Given the description of an element on the screen output the (x, y) to click on. 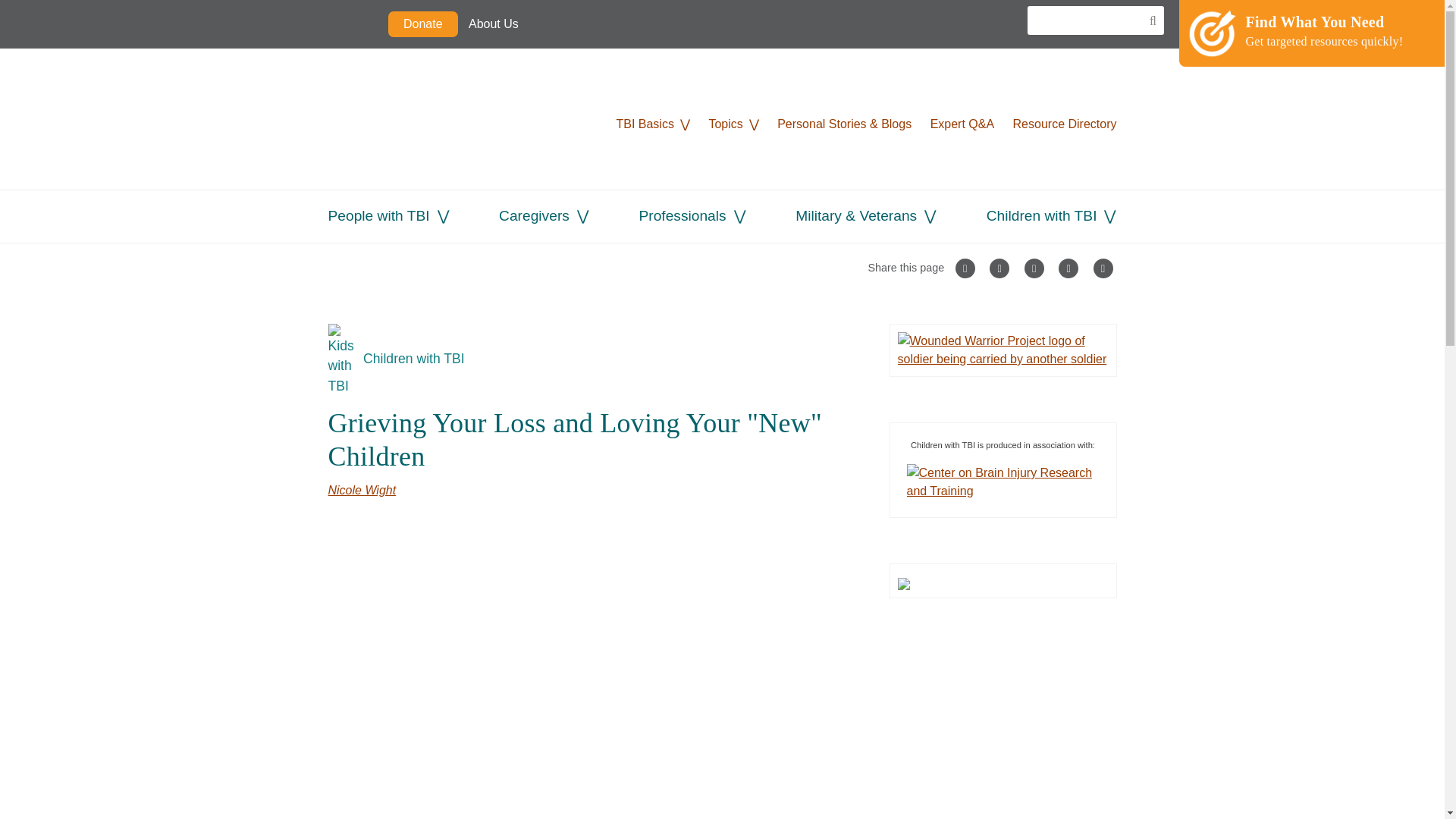
Search (1148, 21)
About Us (493, 23)
People with TBI (378, 215)
Donate (423, 23)
TBI Basics (643, 123)
Topics (724, 123)
Facebook (607, 24)
Home (440, 119)
YouTube (641, 24)
Resource Directory (1064, 123)
WETA (352, 24)
Twitter (571, 24)
Search (1148, 21)
